Given the description of an element on the screen output the (x, y) to click on. 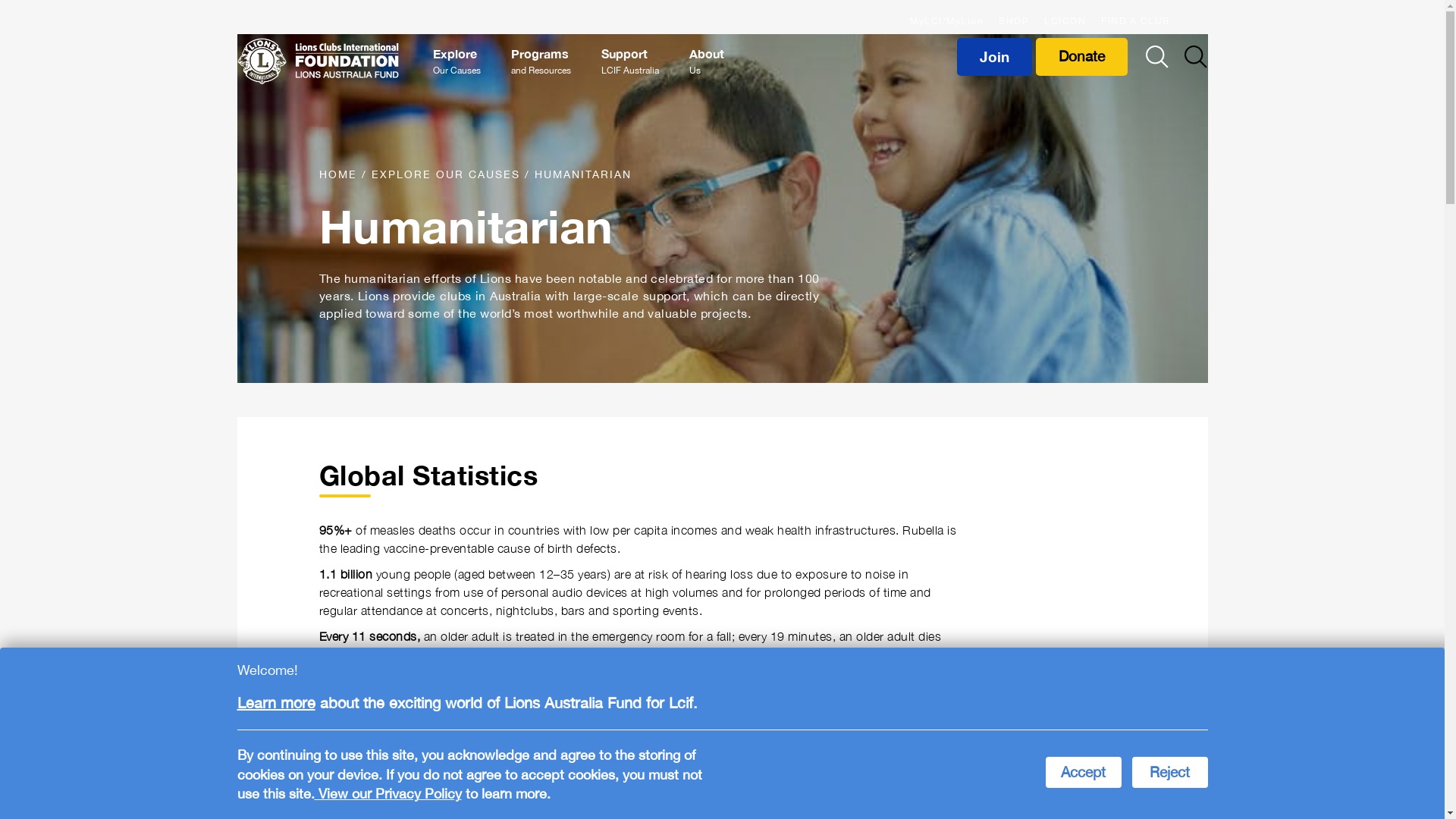
Donate Element type: text (1082, 56)
Explore
Our Causes Element type: text (456, 61)
HOME Element type: text (339, 174)
LCICON Element type: text (1064, 18)
View our Privacy Policy Element type: text (387, 793)
MyLCI/MyLion Element type: text (946, 18)
the World Health Organization Element type: text (485, 739)
Join Element type: text (996, 56)
Support
LCIF Australia Element type: text (630, 61)
Programs
and Resources Element type: text (540, 61)
SHOP Element type: text (1013, 18)
FIND A CLUB Element type: text (1135, 18)
Learn more Element type: text (275, 702)
Reject Element type: text (1169, 771)
Go to Top Element type: hover (1421, 758)
Donate Element type: text (1081, 56)
HUMANITARIAN Element type: text (581, 174)
Join Element type: text (994, 56)
EXPLORE OUR CAUSES Element type: text (447, 174)
Accept Element type: text (1082, 771)
About
Us Element type: text (706, 61)
